Given the description of an element on the screen output the (x, y) to click on. 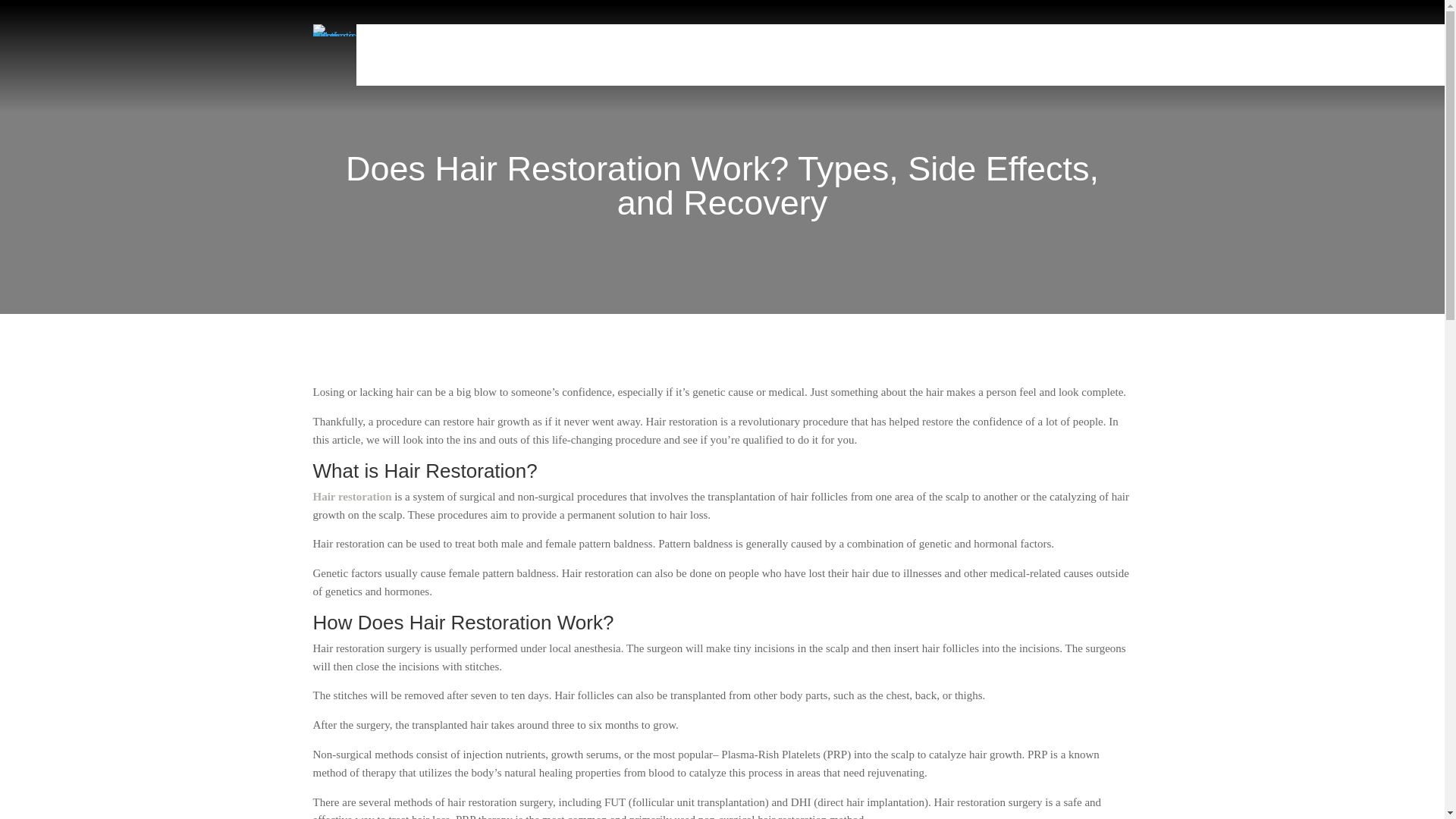
Shop (1229, 54)
About (1173, 54)
Aesthetic Solutions (901, 54)
Cosmetic Treatments (1027, 54)
Gallery (1118, 54)
Sherisse Hill Aesthetic Derm (334, 30)
Home (817, 54)
